Given the description of an element on the screen output the (x, y) to click on. 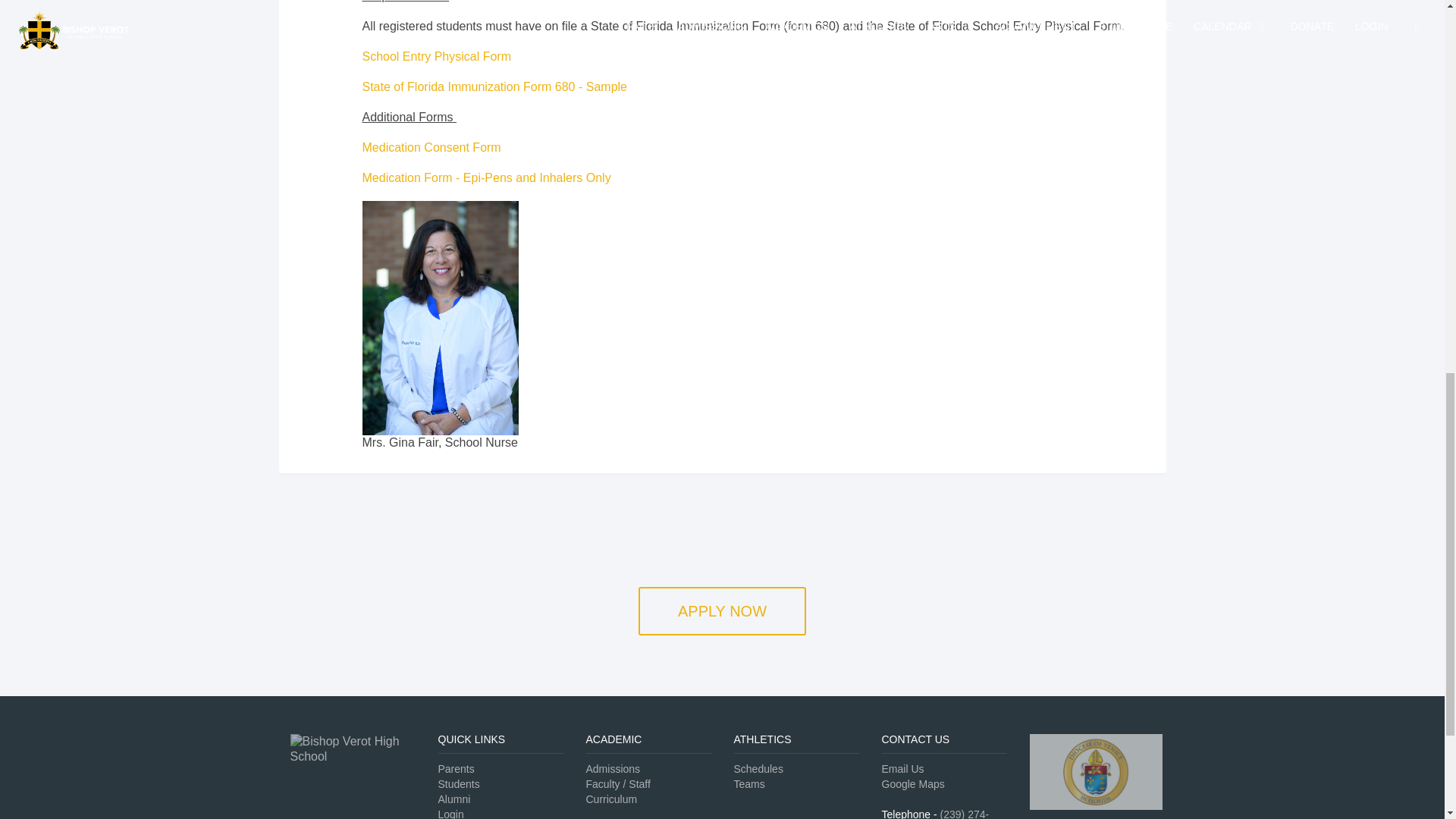
Login (451, 813)
Schedules (758, 768)
Students (459, 784)
School Entry Physical Form  (438, 56)
Alumni (454, 799)
Admissions (612, 768)
Curriculum (611, 799)
Email Us (901, 768)
Teams (749, 784)
Fair.JPG (406, 228)
Parents (456, 768)
Medication Consent Form  (433, 146)
Medication Form - Epi-Pens and Inhalers Only  (488, 177)
State of Florida Immunization Form 680 - Sample  (496, 86)
APPLY NOW (722, 611)
